Given the description of an element on the screen output the (x, y) to click on. 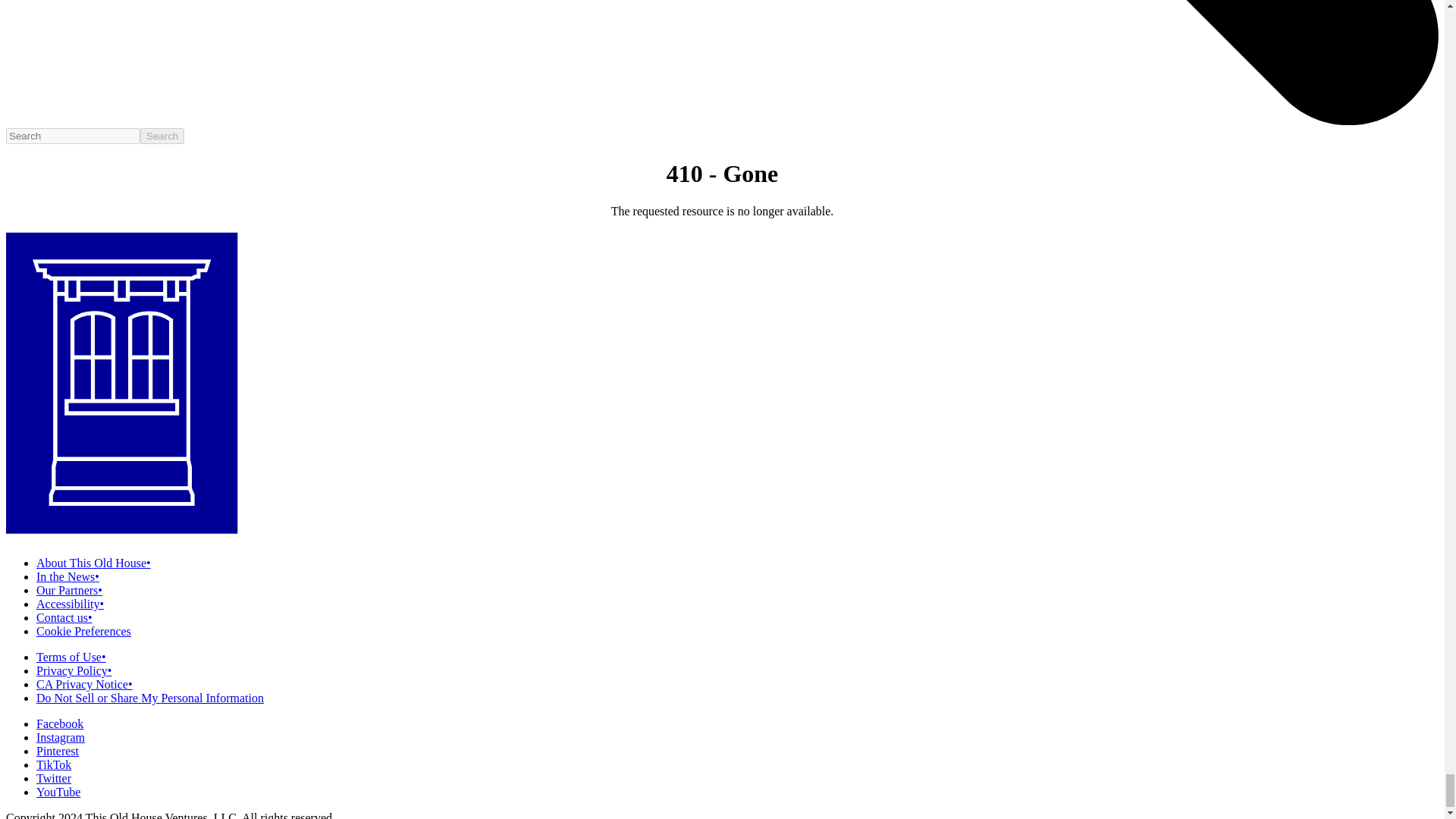
Search (161, 135)
